Given the description of an element on the screen output the (x, y) to click on. 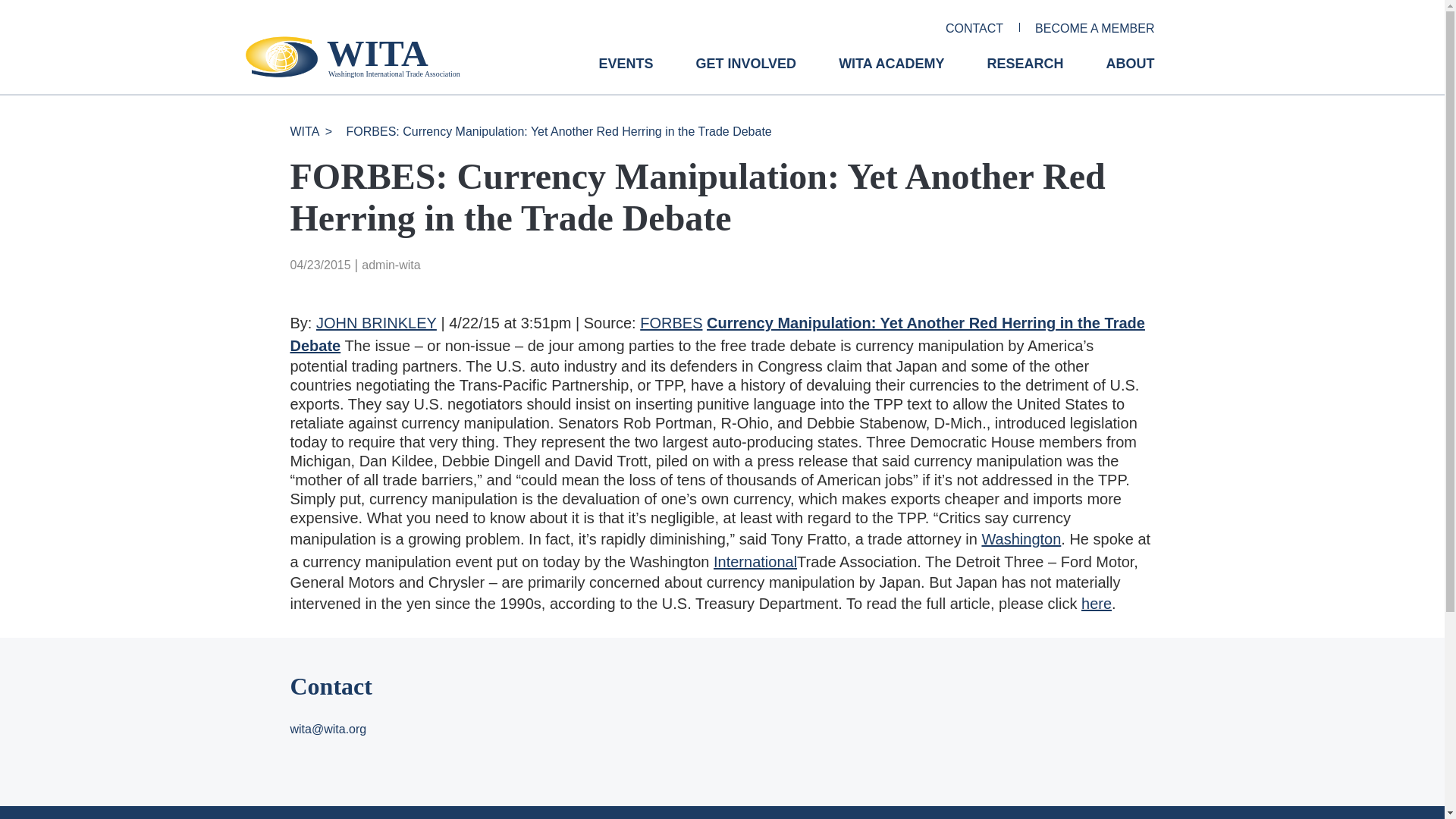
FORBES (670, 322)
CONTACT (973, 28)
BECOME A MEMBER (1094, 28)
Go to WITA. (303, 131)
EVENTS (625, 75)
JOHN BRINKLEY (375, 322)
RESEARCH (1024, 75)
ABOUT (1129, 75)
GET INVOLVED (745, 75)
WITA (303, 131)
Search (19, 6)
WITA ACADEMY (890, 75)
